Given the description of an element on the screen output the (x, y) to click on. 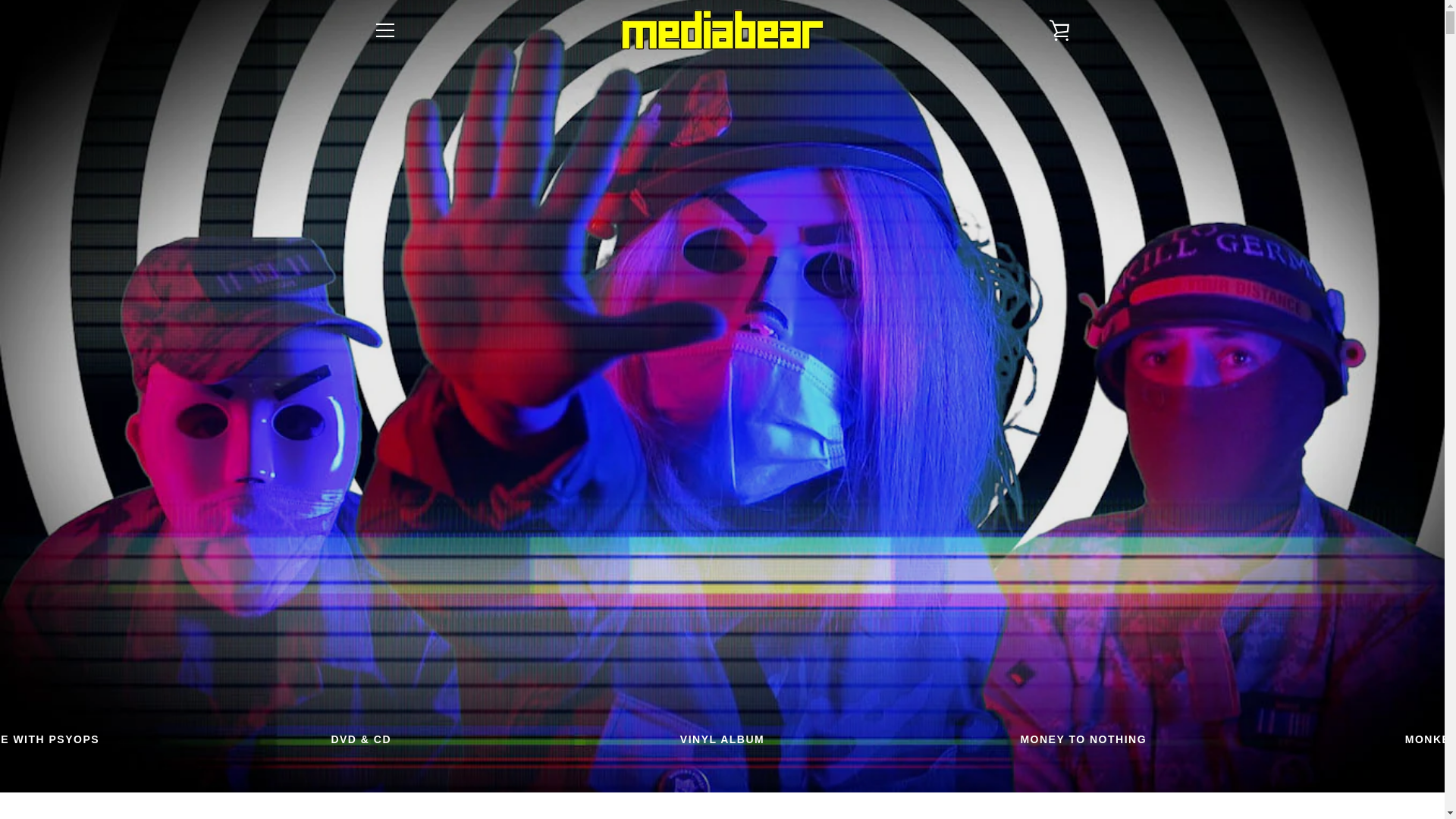
VIEW CART (1059, 30)
GASLIGHTING ME WITH PSYOPS (721, 738)
MENU (1083, 738)
